Given the description of an element on the screen output the (x, y) to click on. 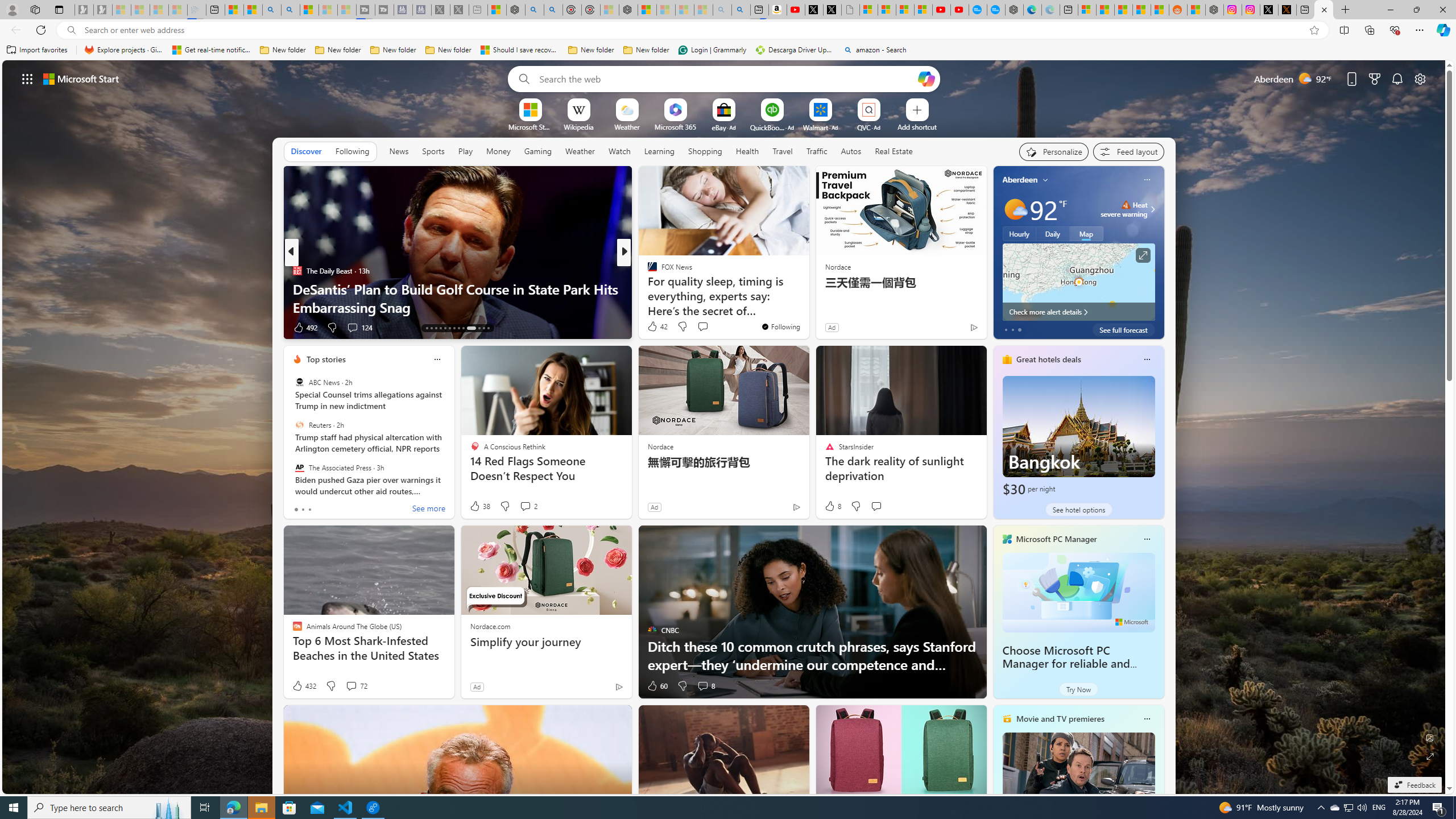
News (398, 151)
The Daily Beast (296, 270)
Bangkok (1077, 436)
Should I save recovered Word documents? - Microsoft Support (519, 49)
492 Like (304, 327)
Don't Say That: Phrases to Avoid in Job Interviews (807, 307)
View comments 8 Comment (705, 685)
News (398, 151)
Aberdeen (1019, 179)
AutomationID: tab-16 (440, 328)
